Given the description of an element on the screen output the (x, y) to click on. 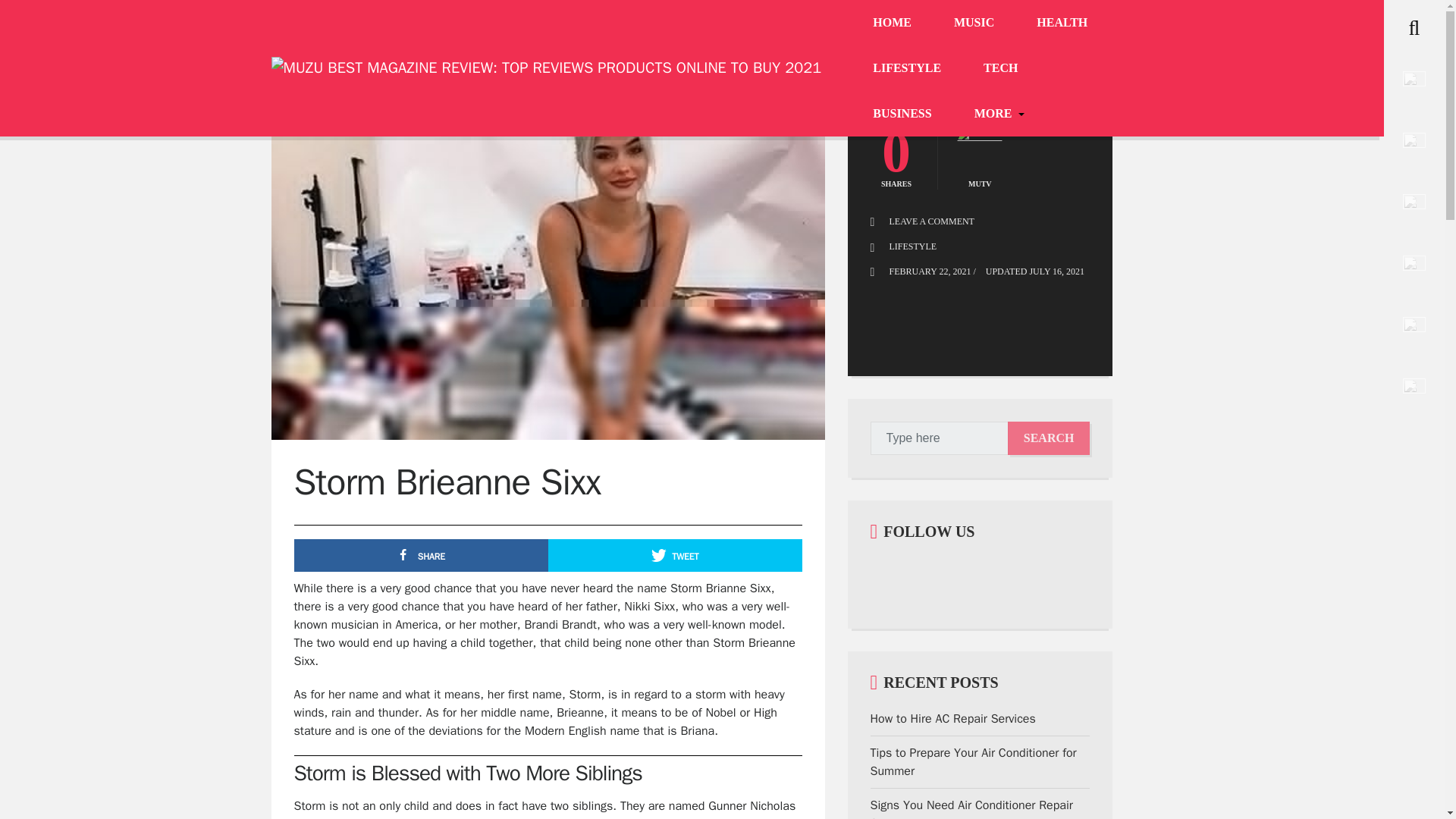
Health (1061, 22)
HEALTH (1061, 22)
Search (1048, 438)
TWEET (1045, 86)
Search (1048, 438)
Tech (999, 68)
SHARE (421, 554)
MUSIC (973, 22)
Music (973, 22)
Search (41, 16)
TECH (999, 68)
Lifestyle (906, 68)
HOME (891, 22)
TWEET (675, 554)
BUSINESS (901, 113)
